Given the description of an element on the screen output the (x, y) to click on. 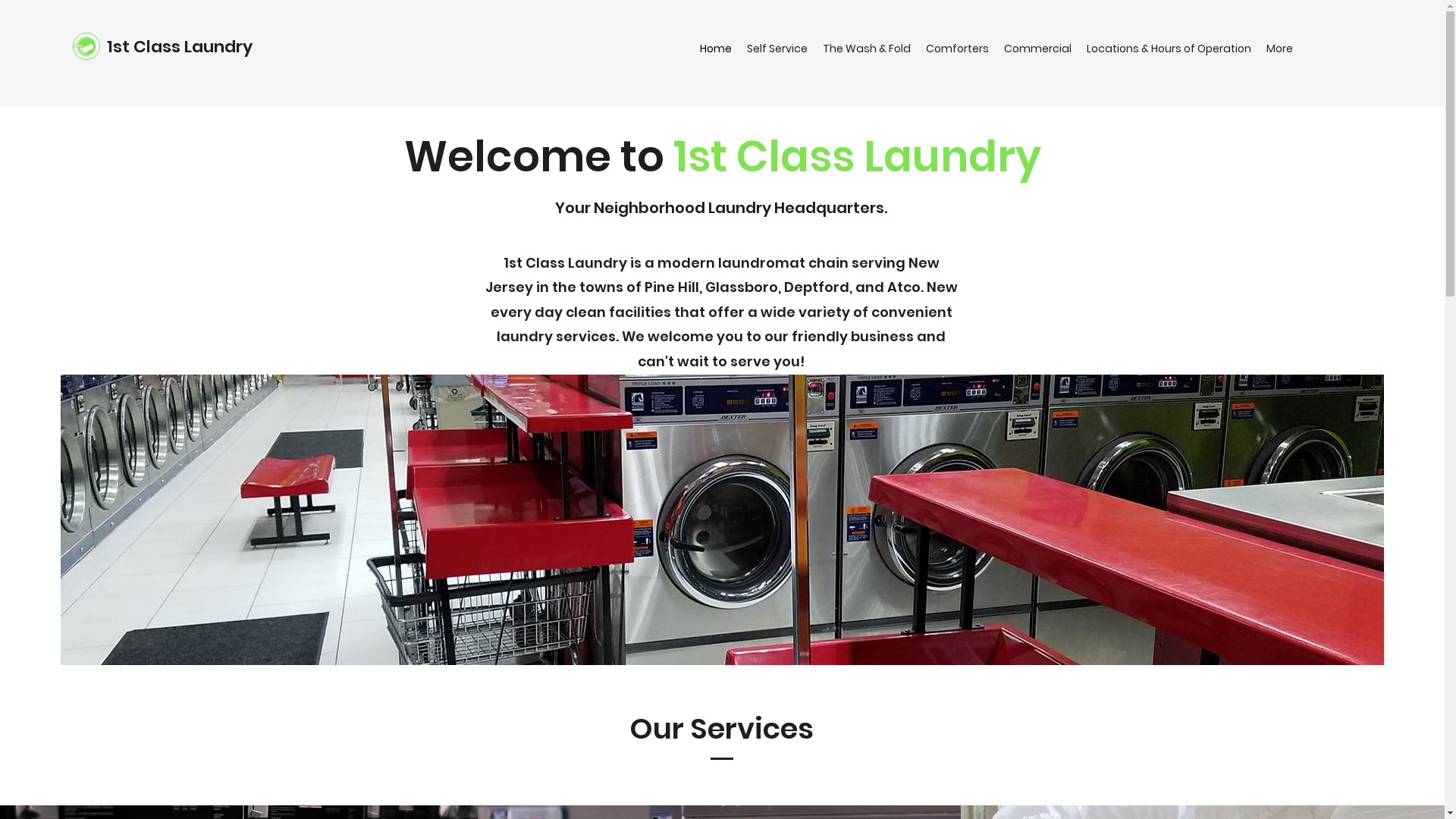
Self Service Element type: text (777, 48)
Comforters Element type: text (957, 48)
The Wash & Fold Element type: text (866, 48)
Locations & Hours of Operation Element type: text (1168, 48)
Home Element type: text (715, 48)
1st Class Laundry Element type: text (179, 46)
Commercial Element type: text (1037, 48)
